Given the description of an element on the screen output the (x, y) to click on. 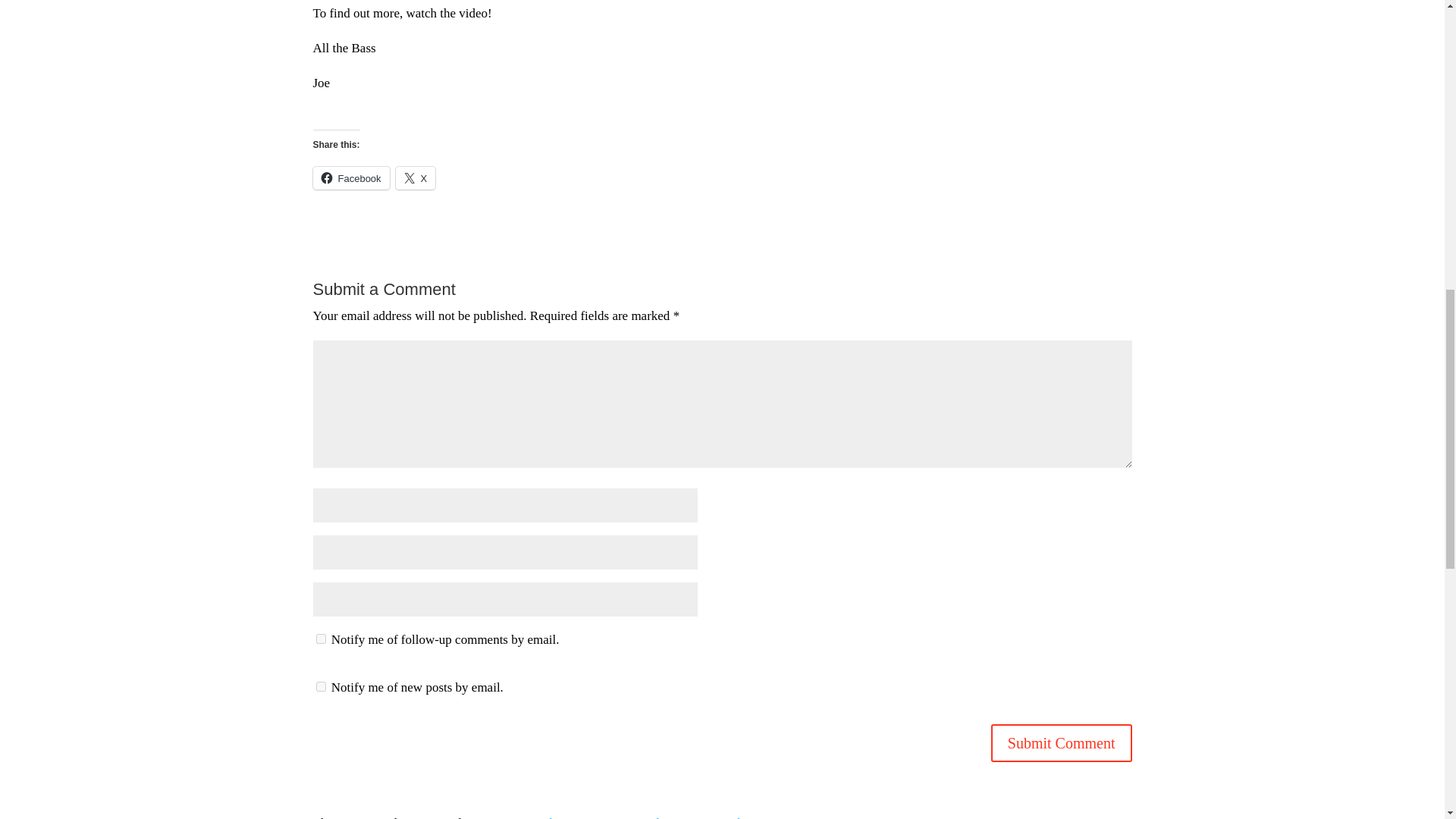
subscribe (319, 686)
X (415, 178)
Click to share on Facebook (350, 178)
Submit Comment (1061, 742)
Submit Comment (1061, 742)
Learn how your comment data is processed (628, 817)
Facebook (350, 178)
Click to share on X (415, 178)
subscribe (319, 638)
